Given the description of an element on the screen output the (x, y) to click on. 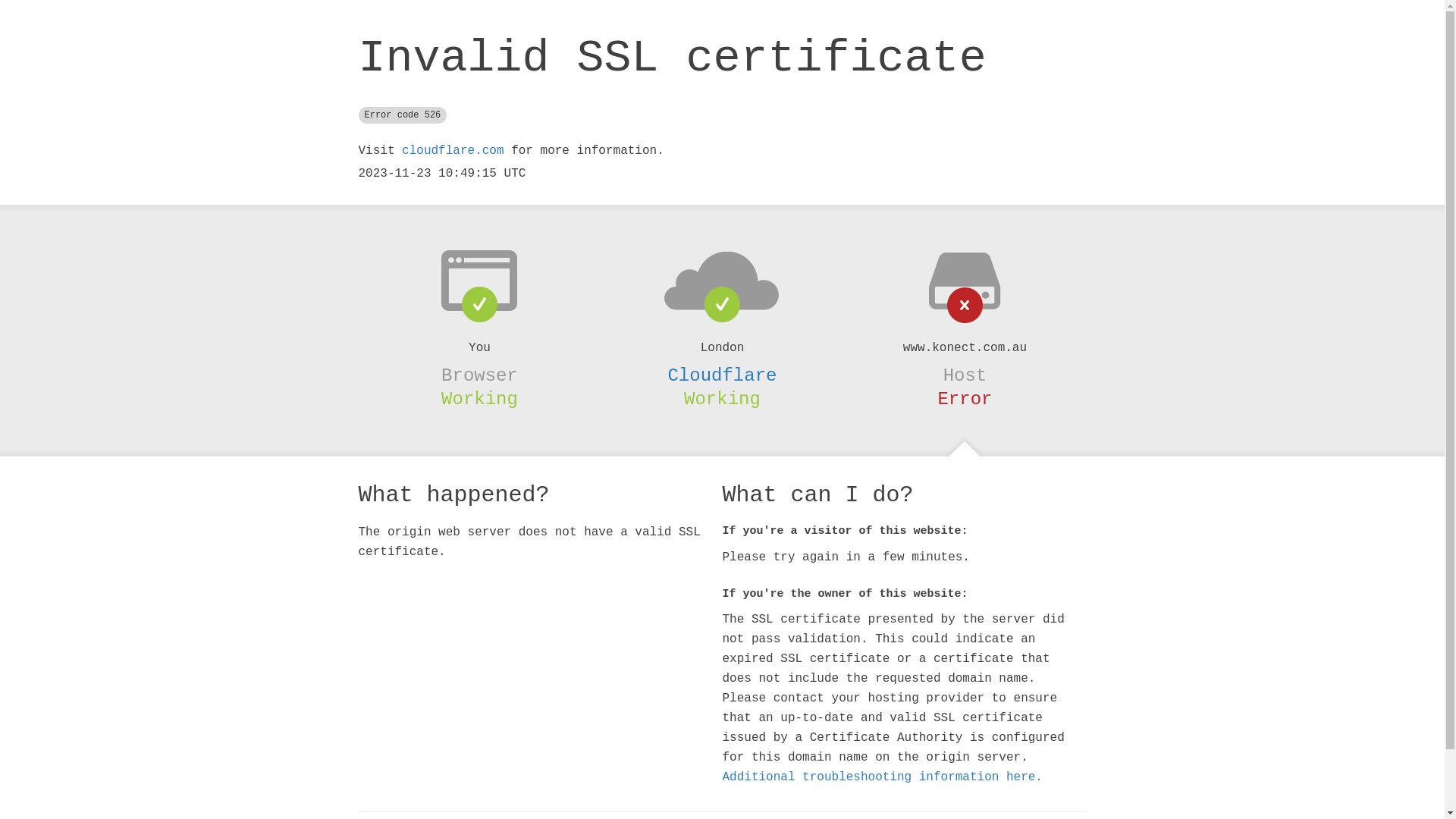
Additional troubleshooting information here. Element type: text (881, 777)
cloudflare.com Element type: text (452, 150)
Cloudflare Element type: text (721, 375)
